Given the description of an element on the screen output the (x, y) to click on. 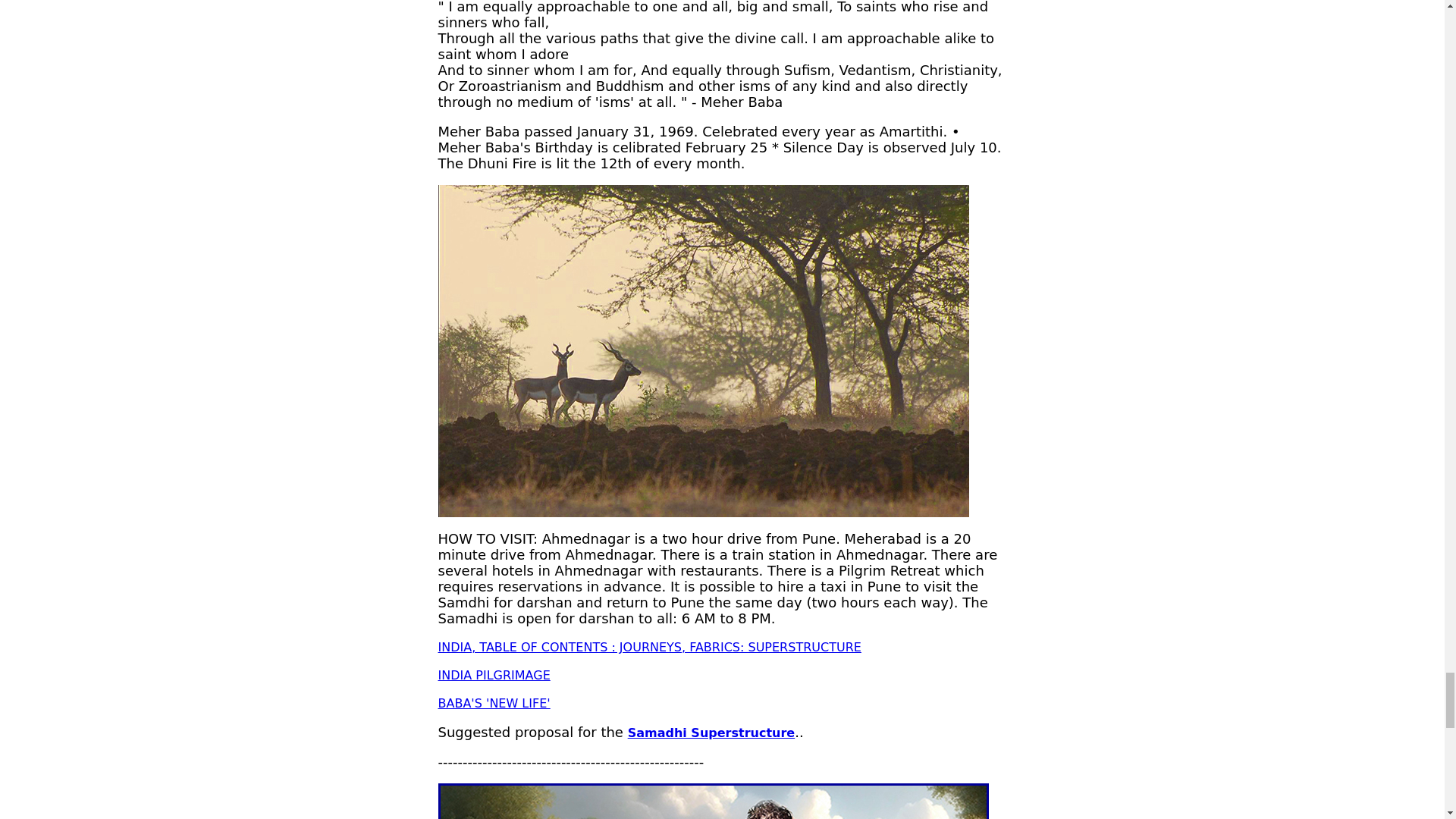
INDIA, TABLE OF CONTENTS : JOURNEYS, FABRICS: SUPERSTRUCTURE (649, 646)
Samadhi Superstructure (710, 732)
BABA'S 'NEW LIFE' (494, 703)
INDIA PILGRIMAGE (494, 675)
